Given the description of an element on the screen output the (x, y) to click on. 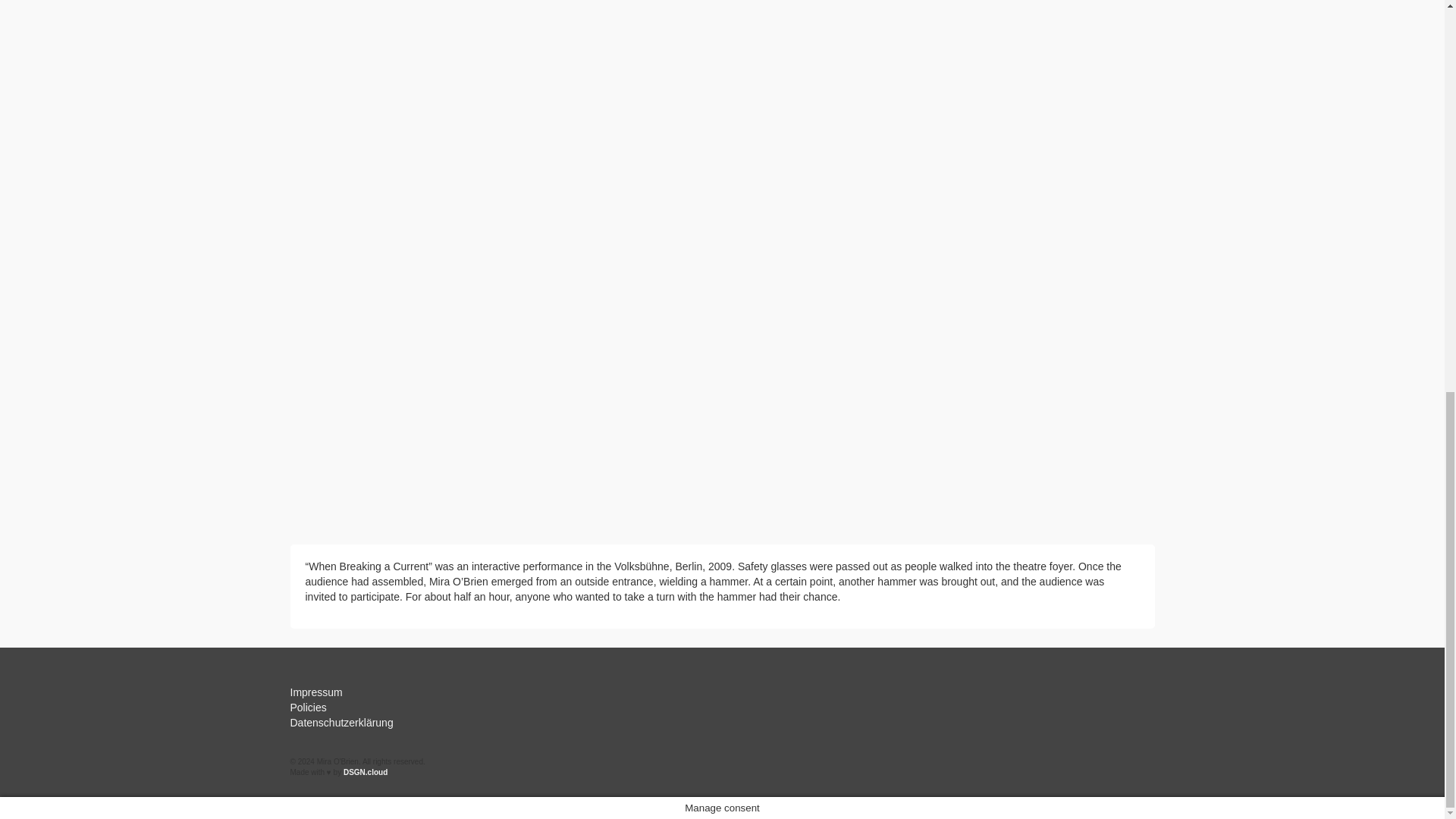
DSGN.cloud (365, 772)
Policies (307, 707)
Impressum (315, 692)
